Given the description of an element on the screen output the (x, y) to click on. 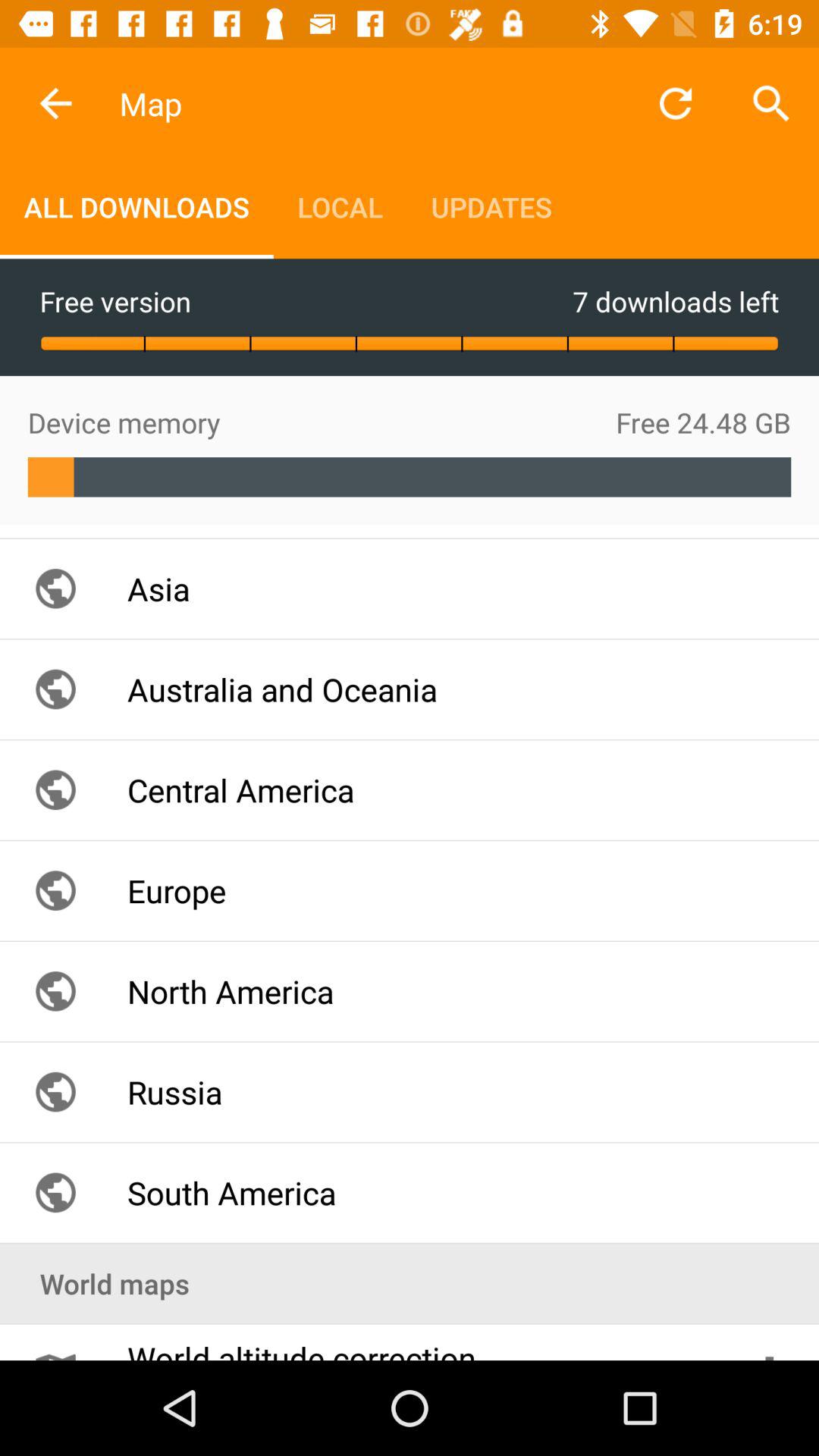
open item next to updates item (340, 206)
